Given the description of an element on the screen output the (x, y) to click on. 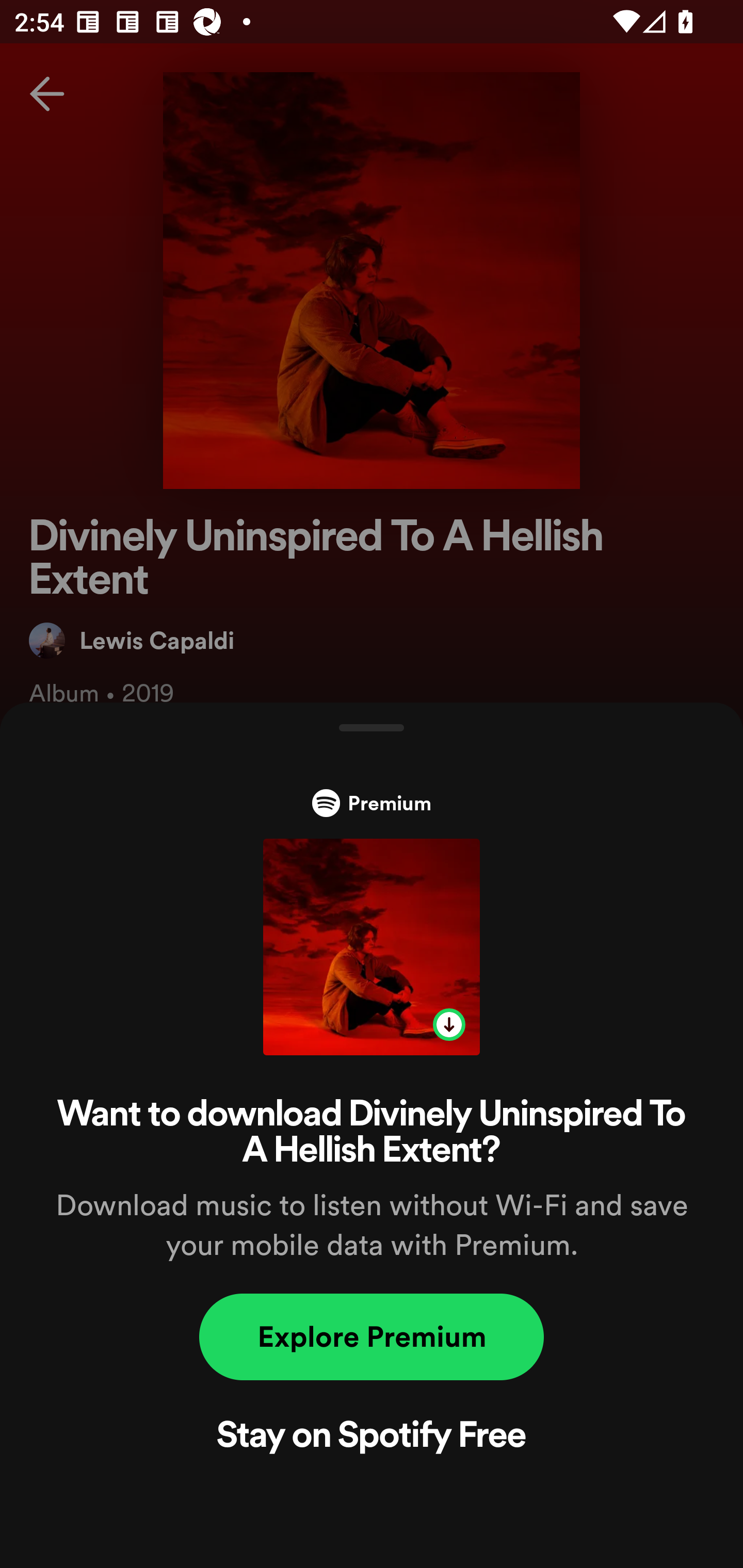
Explore Premium (371, 1336)
Stay on Spotify Free (371, 1437)
